Given the description of an element on the screen output the (x, y) to click on. 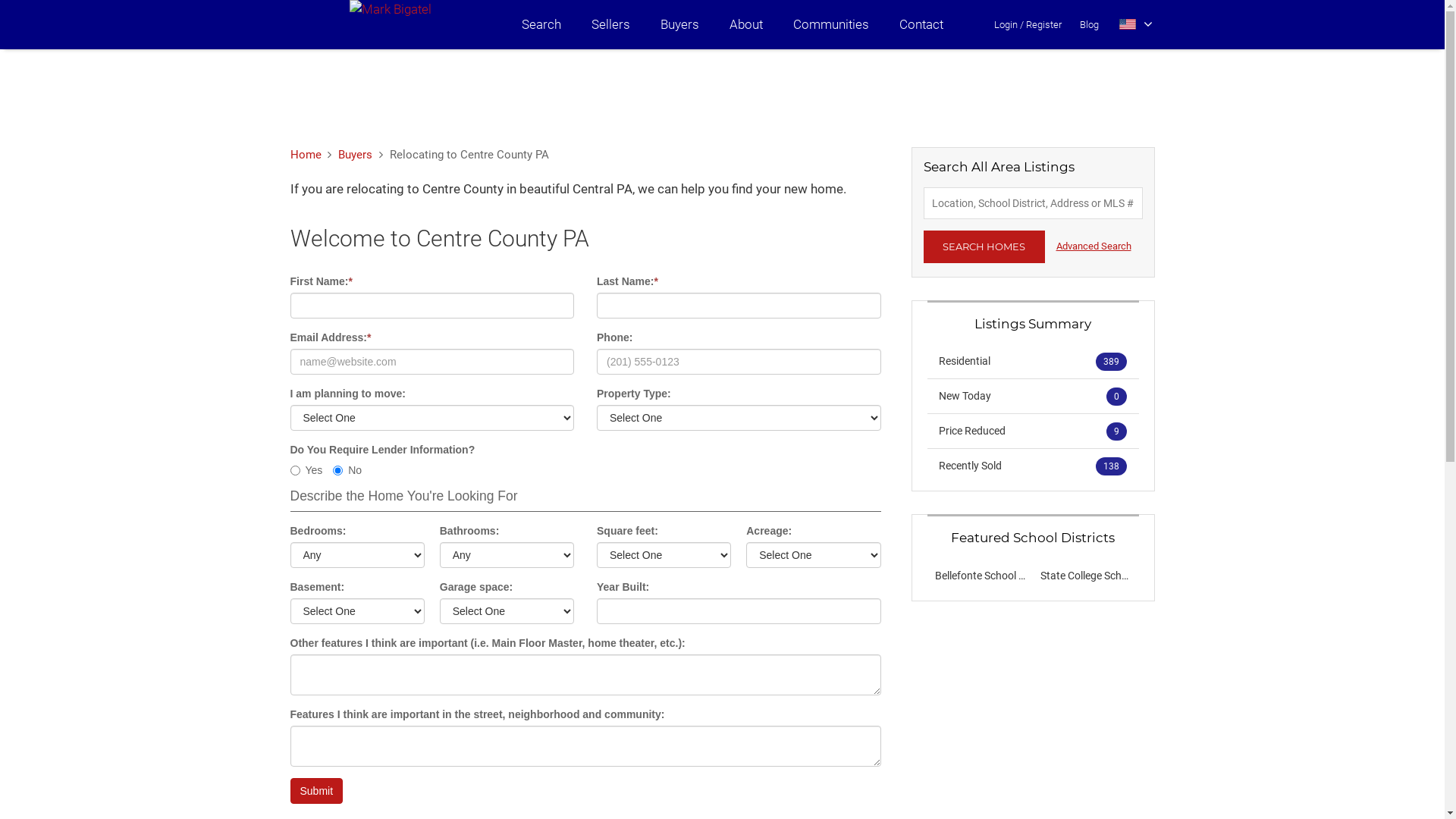
Login/ Element type: text (1009, 24)
Submit Element type: text (315, 790)
Sellers Element type: text (610, 24)
Select Language Element type: hover (1135, 24)
Enter Location, School District, Address or MLS # Element type: hover (1032, 203)
About Element type: text (746, 24)
Home Element type: text (304, 154)
Register Element type: text (1042, 24)
Recently Sold
138 Element type: text (1032, 465)
Search Element type: text (541, 24)
Buyers Element type: text (355, 154)
Blog Element type: text (1088, 24)
Communities Element type: text (831, 24)
Residential
389 Element type: text (1032, 361)
New Today
0 Element type: text (1032, 395)
Price Reduced
9 Element type: text (1032, 430)
Advanced Search Element type: text (1092, 246)
State College School District - Homes for Sale Element type: text (1145, 575)
SEARCH HOMES Element type: text (983, 246)
Contact Element type: text (921, 24)
Buyers Element type: text (678, 24)
Bellefonte School District - Homes for Sale Element type: text (1031, 575)
